Given the description of an element on the screen output the (x, y) to click on. 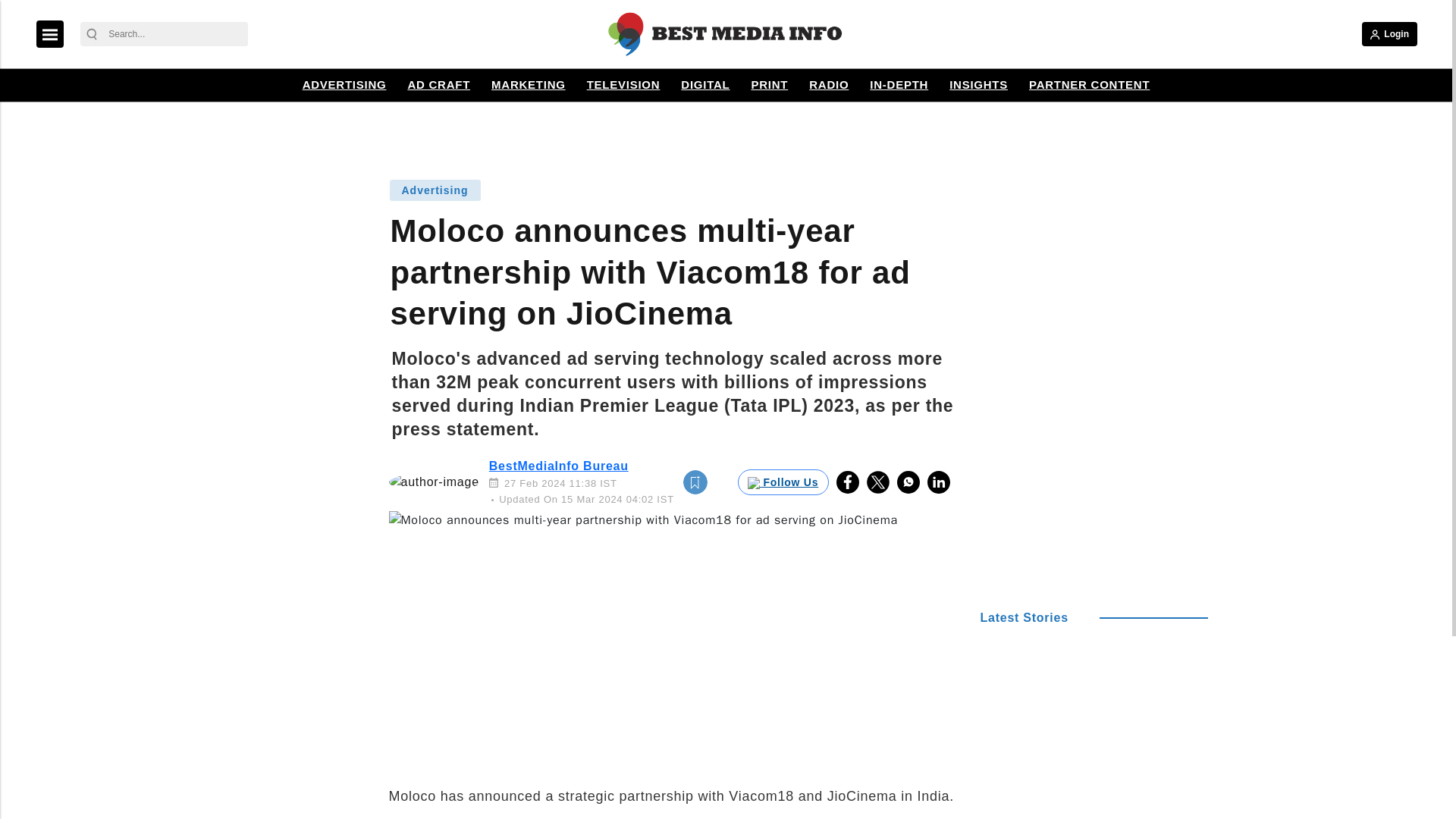
TELEVISION (622, 84)
Advertising (434, 190)
Login (1388, 33)
Follow Us (782, 482)
PRINT (769, 84)
RADIO (828, 84)
INSIGHTS (978, 84)
AD CRAFT (438, 84)
PARTNER CONTENT (1088, 84)
DIGITAL (705, 84)
ADVERTISING (344, 84)
BestMediaInfo Bureau (558, 465)
IN-DEPTH (898, 84)
MARKETING (528, 84)
